Given the description of an element on the screen output the (x, y) to click on. 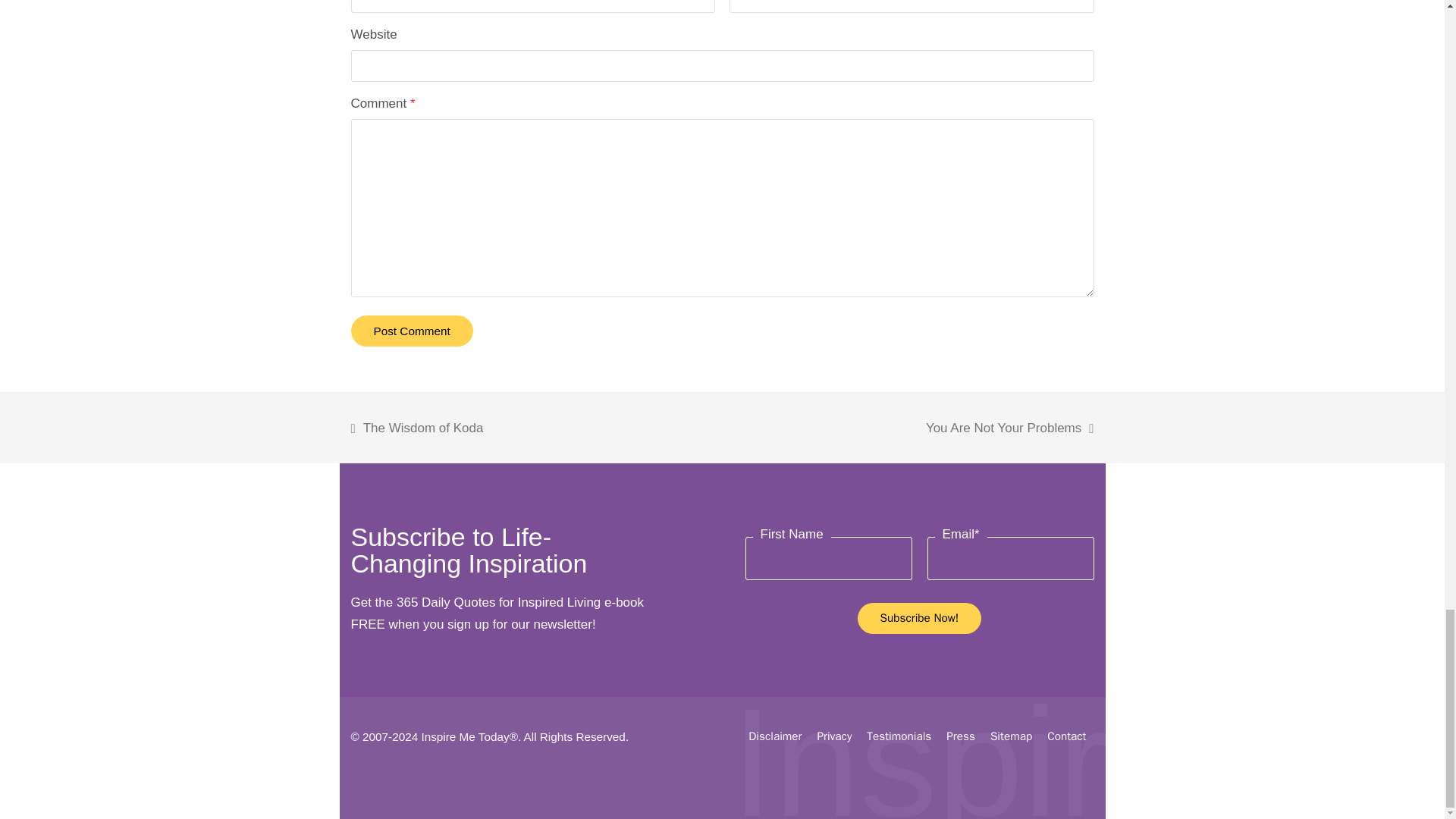
Testimonials (898, 735)
Privacy (833, 735)
Contact (1066, 735)
Sitemap (1011, 735)
Post Comment (410, 330)
Subscribe Now! (919, 617)
Press (960, 735)
Post Comment (410, 330)
